Given the description of an element on the screen output the (x, y) to click on. 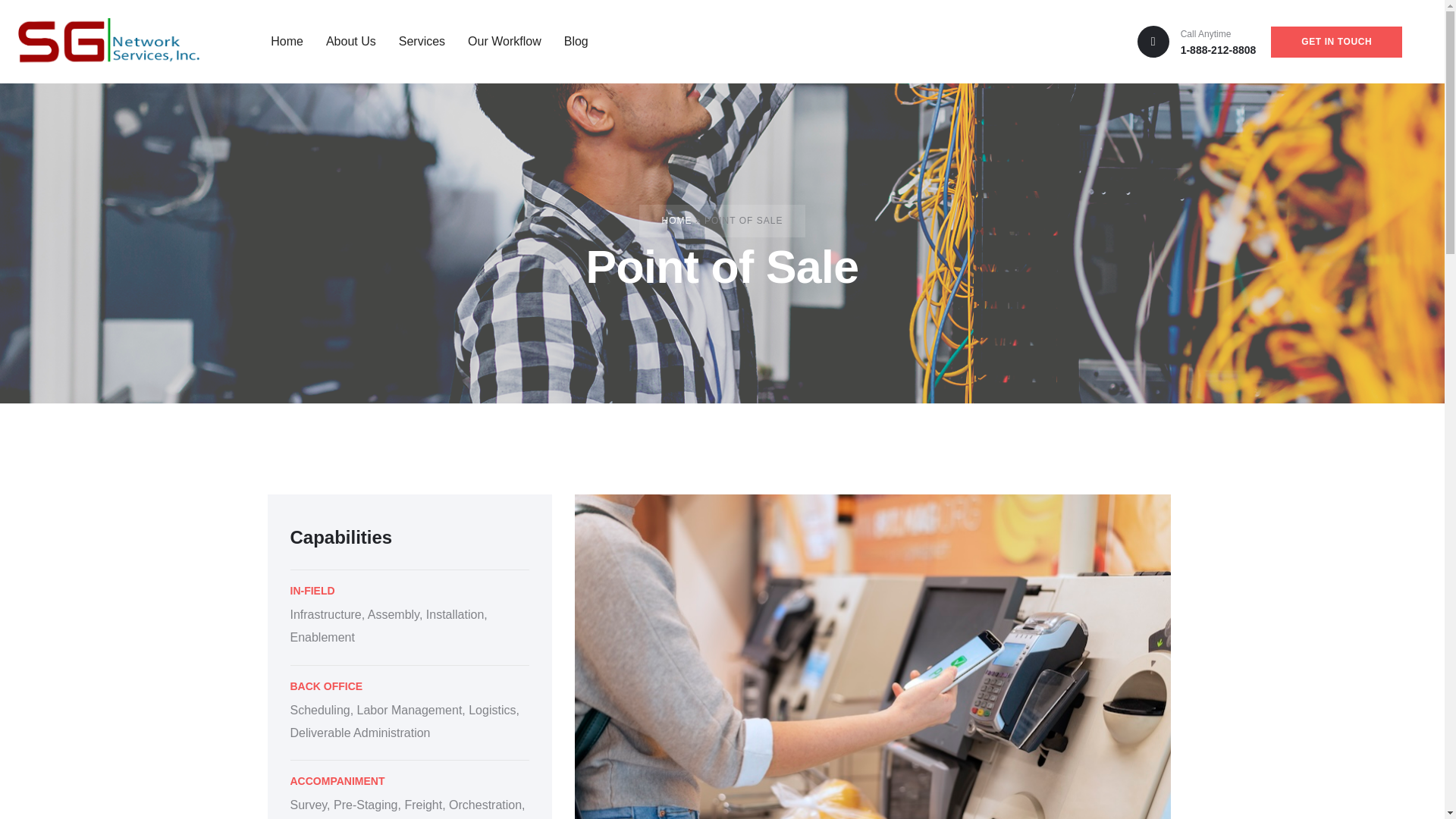
Our Workflow (496, 41)
Services (414, 41)
Blog (568, 41)
HOME (677, 220)
Home (279, 41)
Home (279, 41)
About Us (343, 41)
Services (414, 41)
About Us (343, 41)
Our Workflow (496, 41)
Blog (568, 41)
GET IN TOUCH (1336, 41)
